Given the description of an element on the screen output the (x, y) to click on. 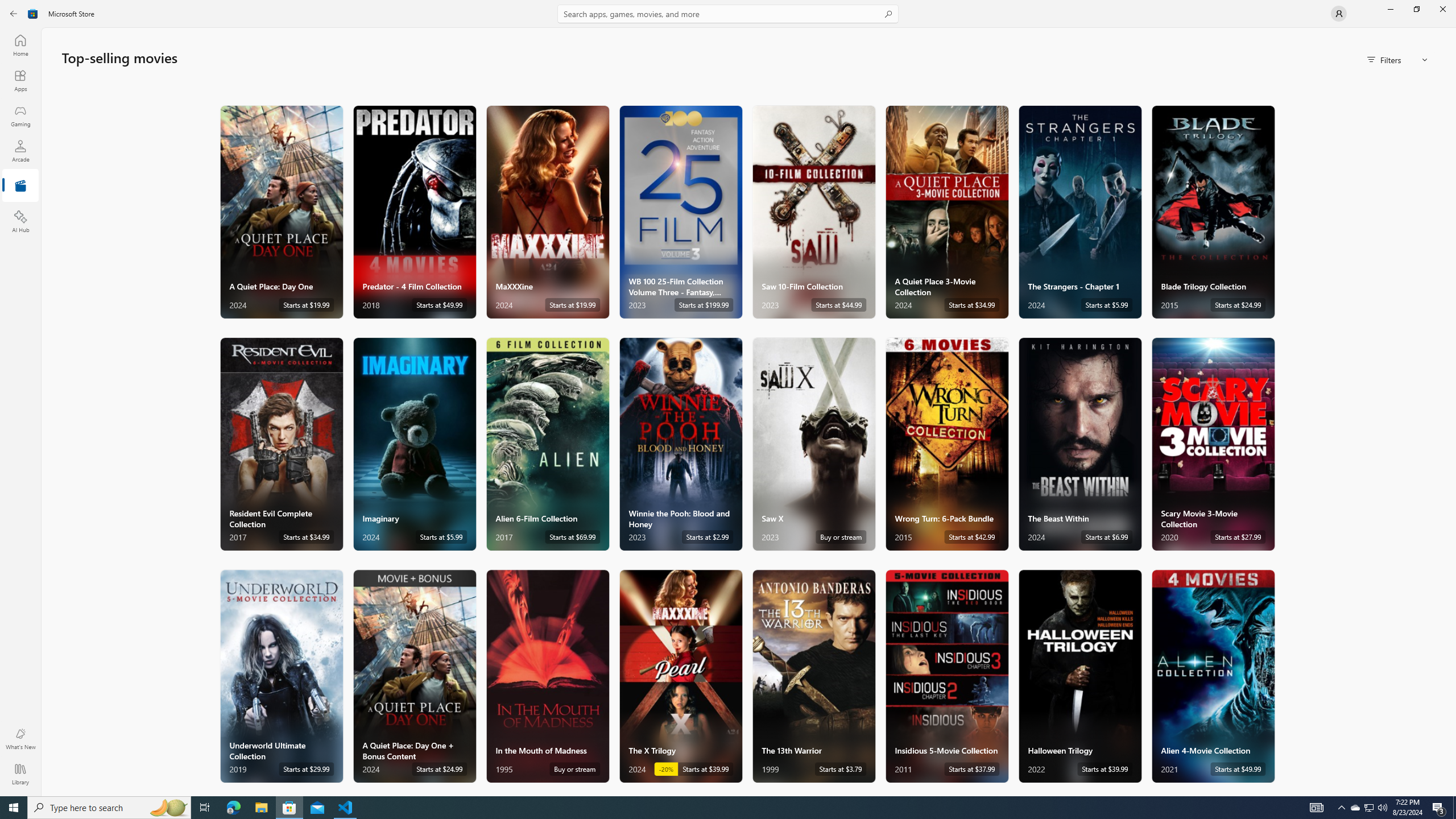
Resident Evil Complete Collection. Starts at $34.99   (281, 444)
User profile (1338, 13)
Blade Trilogy Collection. Starts at $24.99   (1213, 211)
A Quiet Place 3-Movie Collection. Starts at $34.99   (947, 211)
Wrong Turn: 6-Pack Bundle. Starts at $42.99   (947, 444)
Class: Image (32, 13)
Library (20, 773)
Back (13, 13)
